Given the description of an element on the screen output the (x, y) to click on. 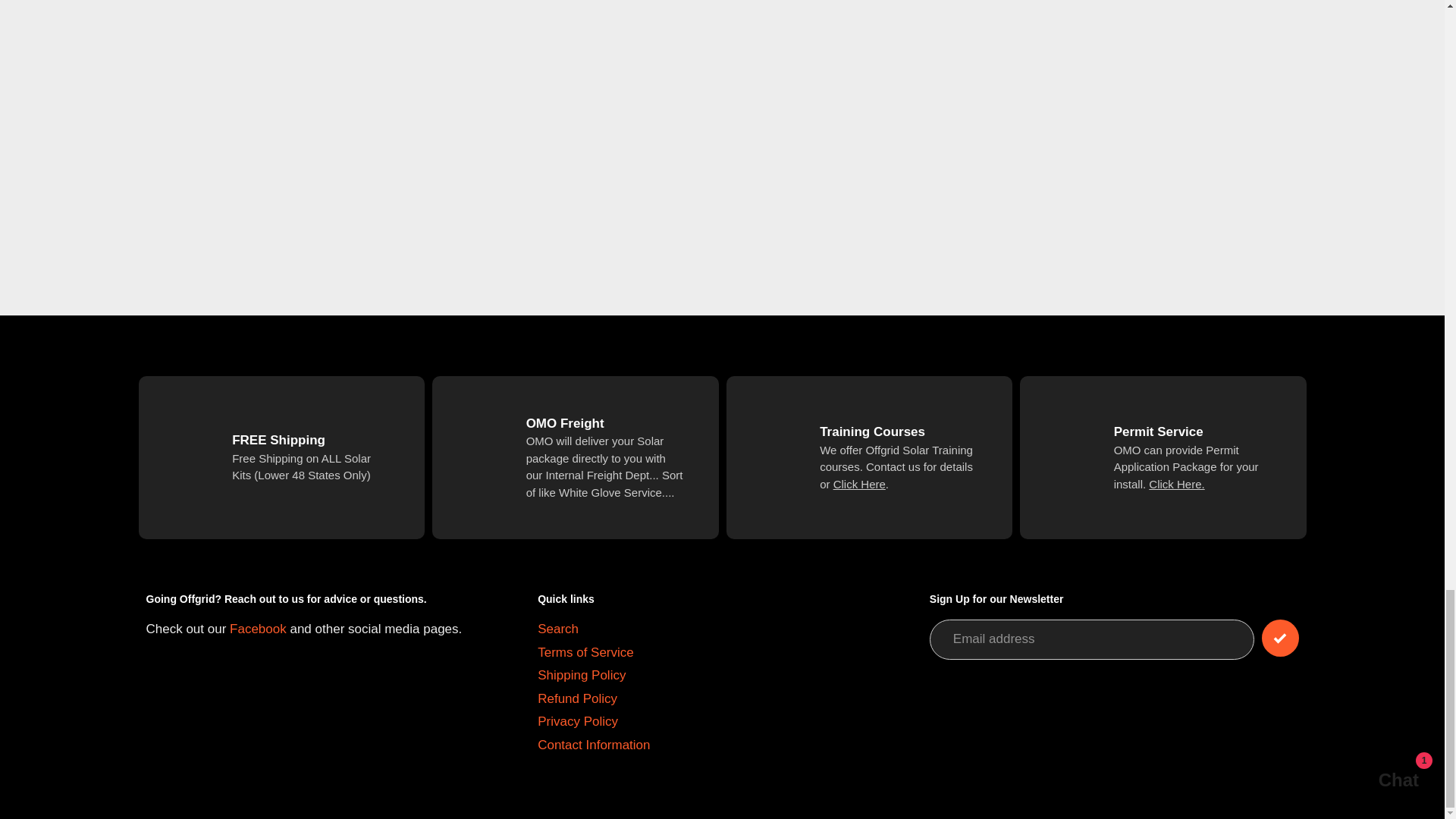
Training Courses (858, 483)
Contact Us (1176, 483)
